Given the description of an element on the screen output the (x, y) to click on. 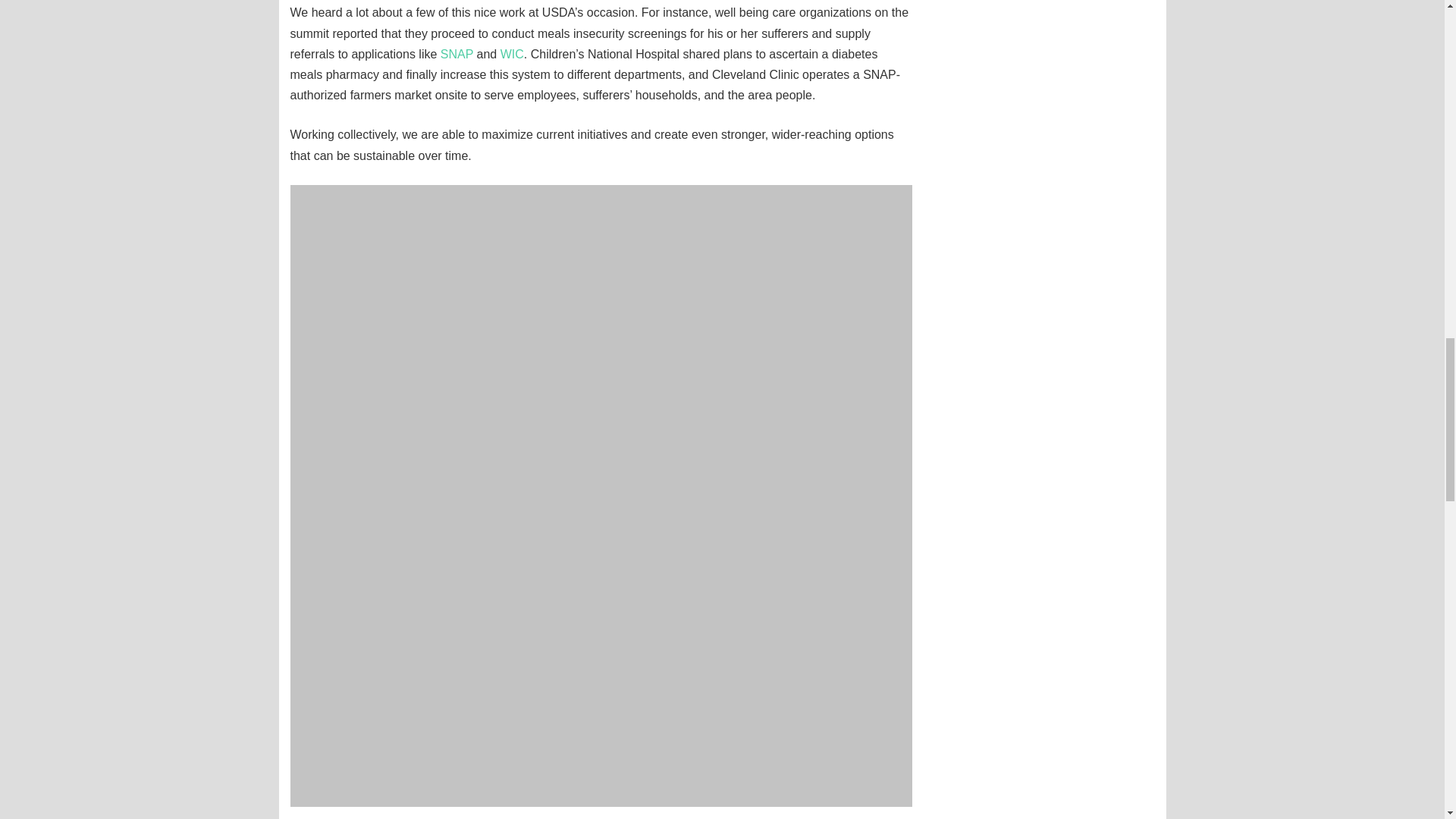
SNAP (457, 53)
WIC (512, 53)
